Given the description of an element on the screen output the (x, y) to click on. 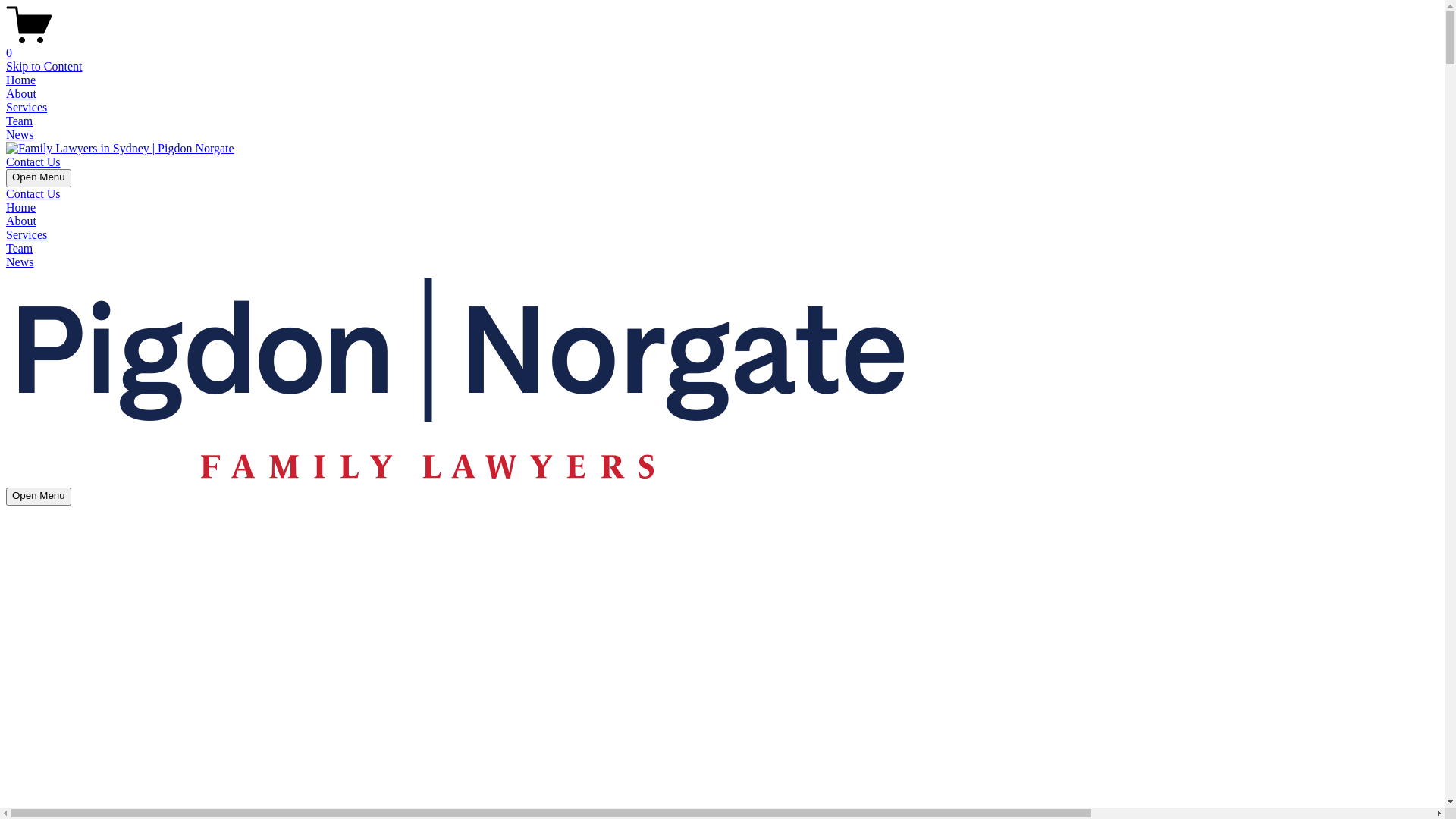
Contact Us Element type: text (33, 193)
Open Menu Element type: text (38, 178)
About Element type: text (21, 93)
Open Menu Element type: text (38, 496)
Contact Us Element type: text (33, 161)
Home Element type: text (20, 79)
About Element type: text (21, 220)
Services Element type: text (26, 234)
0 Element type: text (722, 45)
Team Element type: text (19, 247)
News Element type: text (19, 261)
Services Element type: text (26, 106)
News Element type: text (19, 134)
Skip to Content Element type: text (43, 65)
Home Element type: text (20, 206)
Team Element type: text (19, 120)
